Given the description of an element on the screen output the (x, y) to click on. 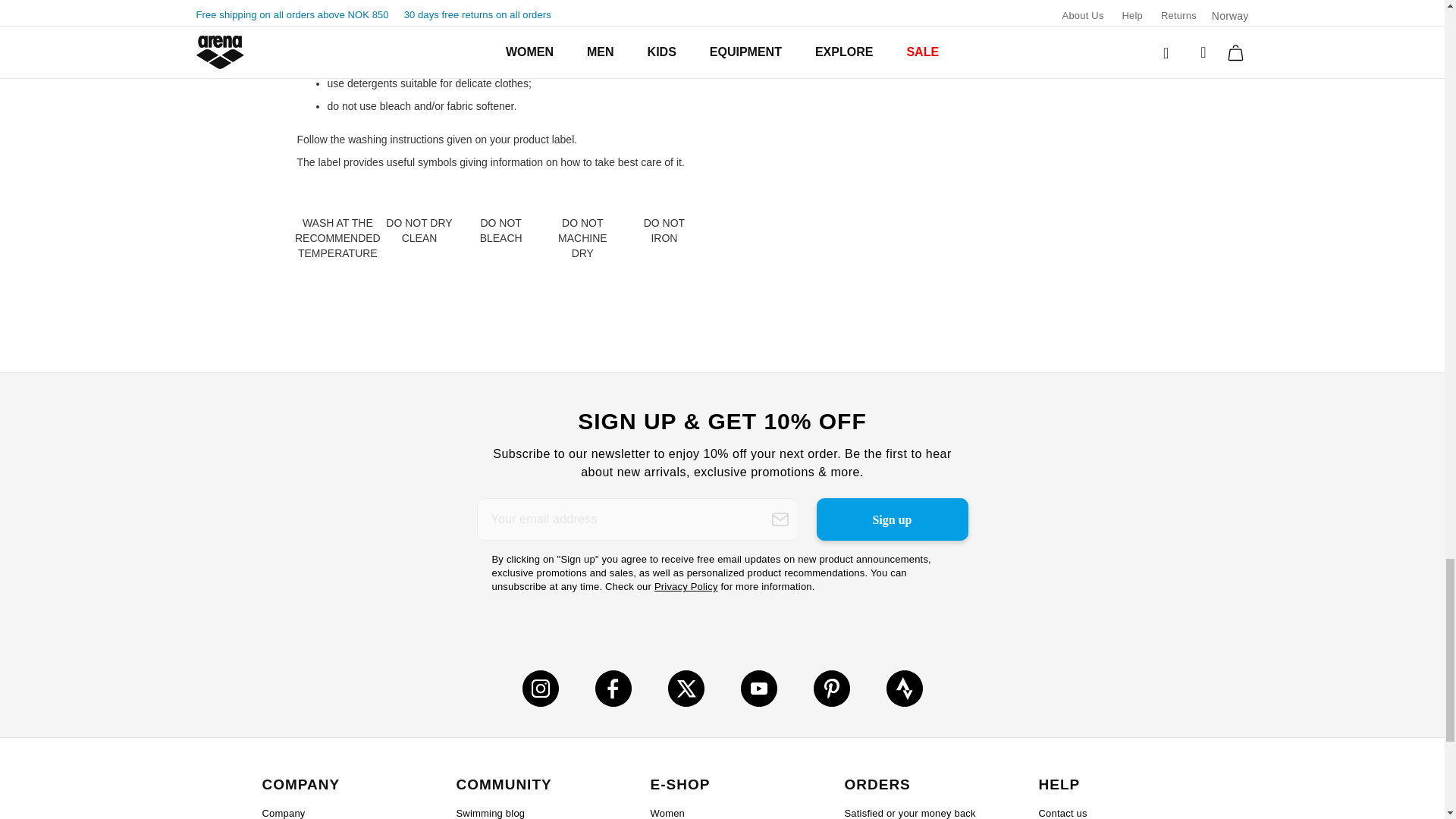
Sign up (891, 518)
